Given the description of an element on the screen output the (x, y) to click on. 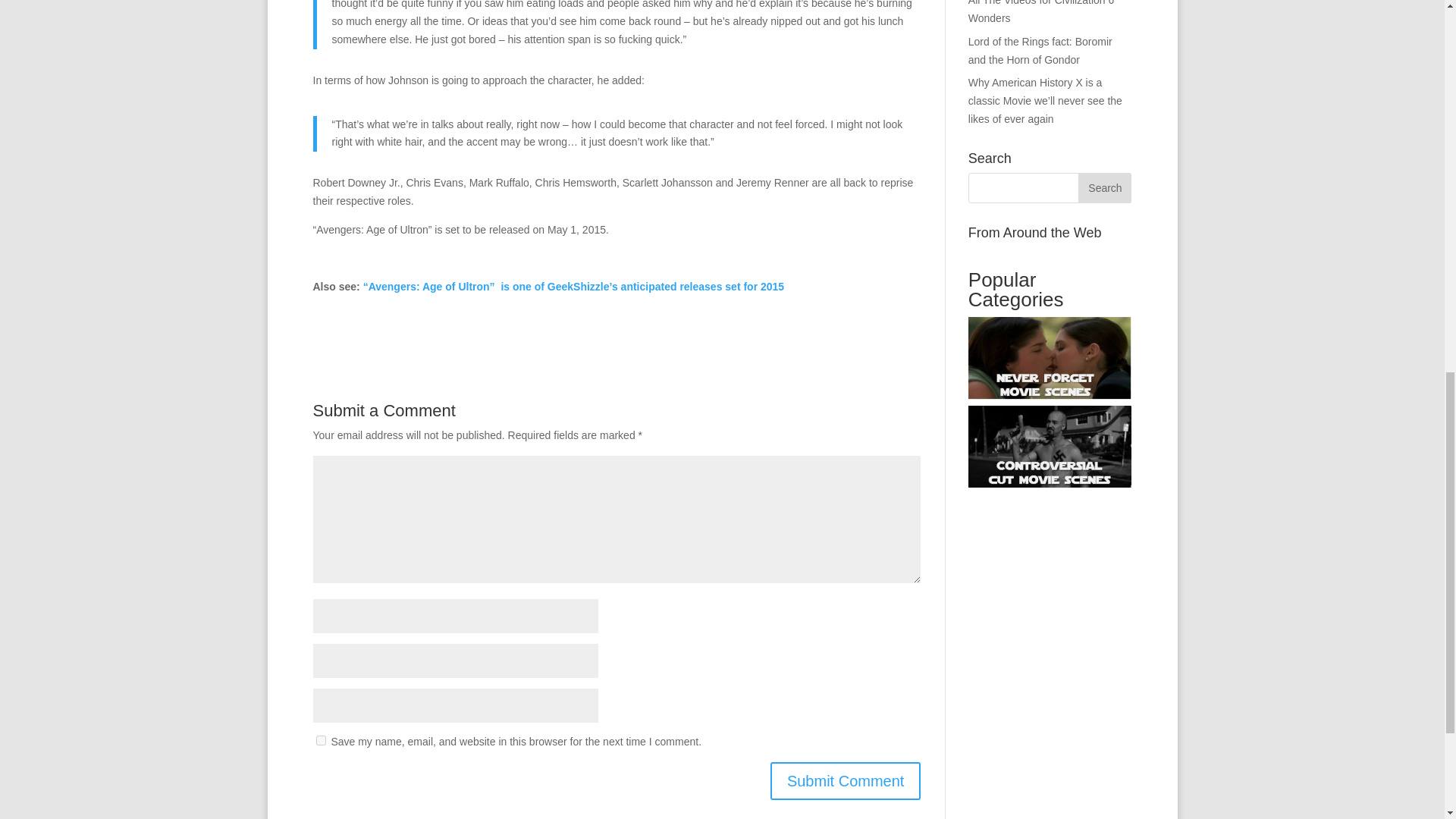
Search (1104, 187)
yes (319, 740)
Submit Comment (845, 781)
